Given the description of an element on the screen output the (x, y) to click on. 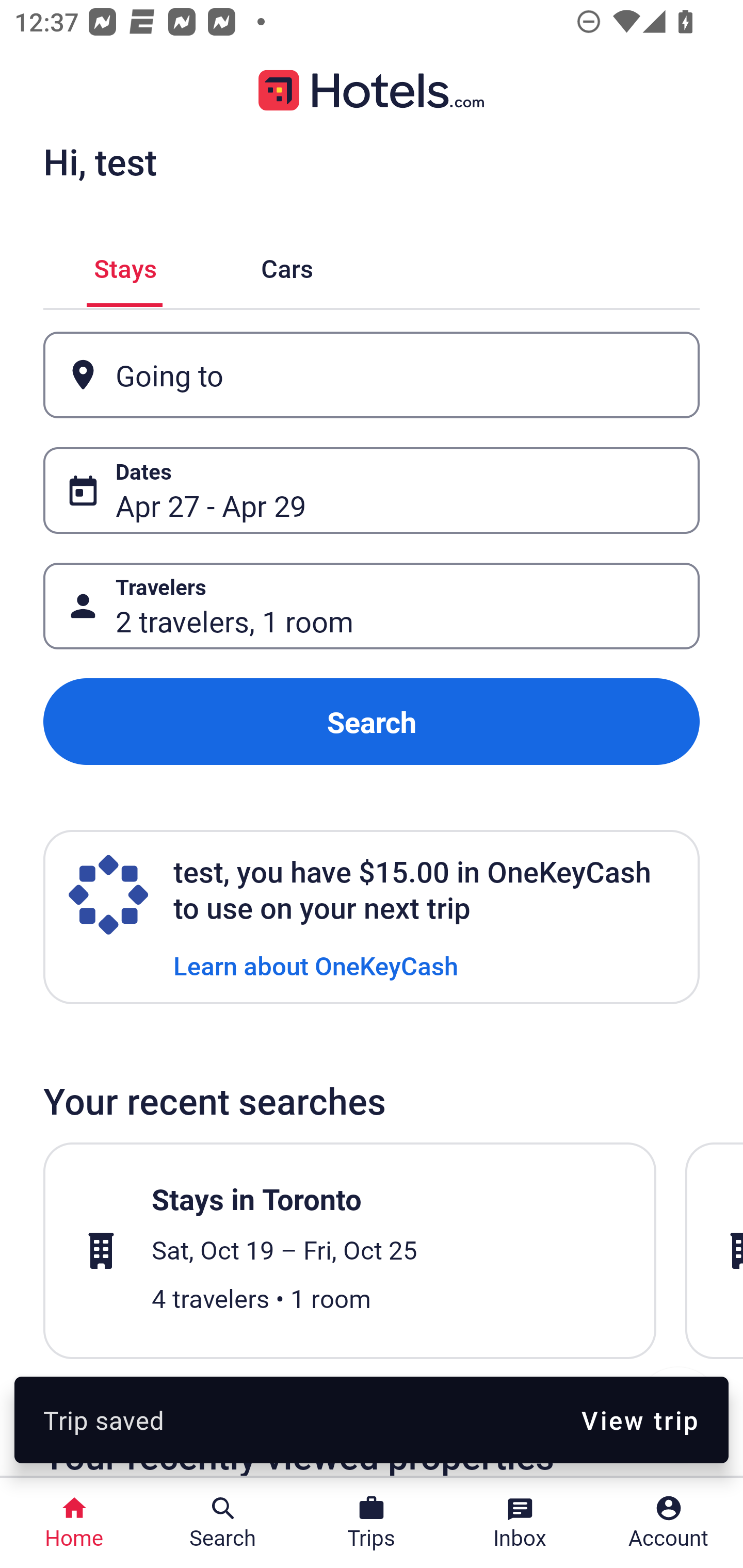
Hi, test (99, 161)
Cars (286, 265)
Going to Button (371, 375)
Dates Button Apr 27 - Apr 29 (371, 489)
Travelers Button 2 travelers, 1 room (371, 605)
Search (371, 721)
Learn about OneKeyCash Learn about OneKeyCash Link (315, 964)
View trip (640, 1419)
Search Search Button (222, 1522)
Trips Trips Button (371, 1522)
Inbox Inbox Button (519, 1522)
Account Profile. Button (668, 1522)
